Given the description of an element on the screen output the (x, y) to click on. 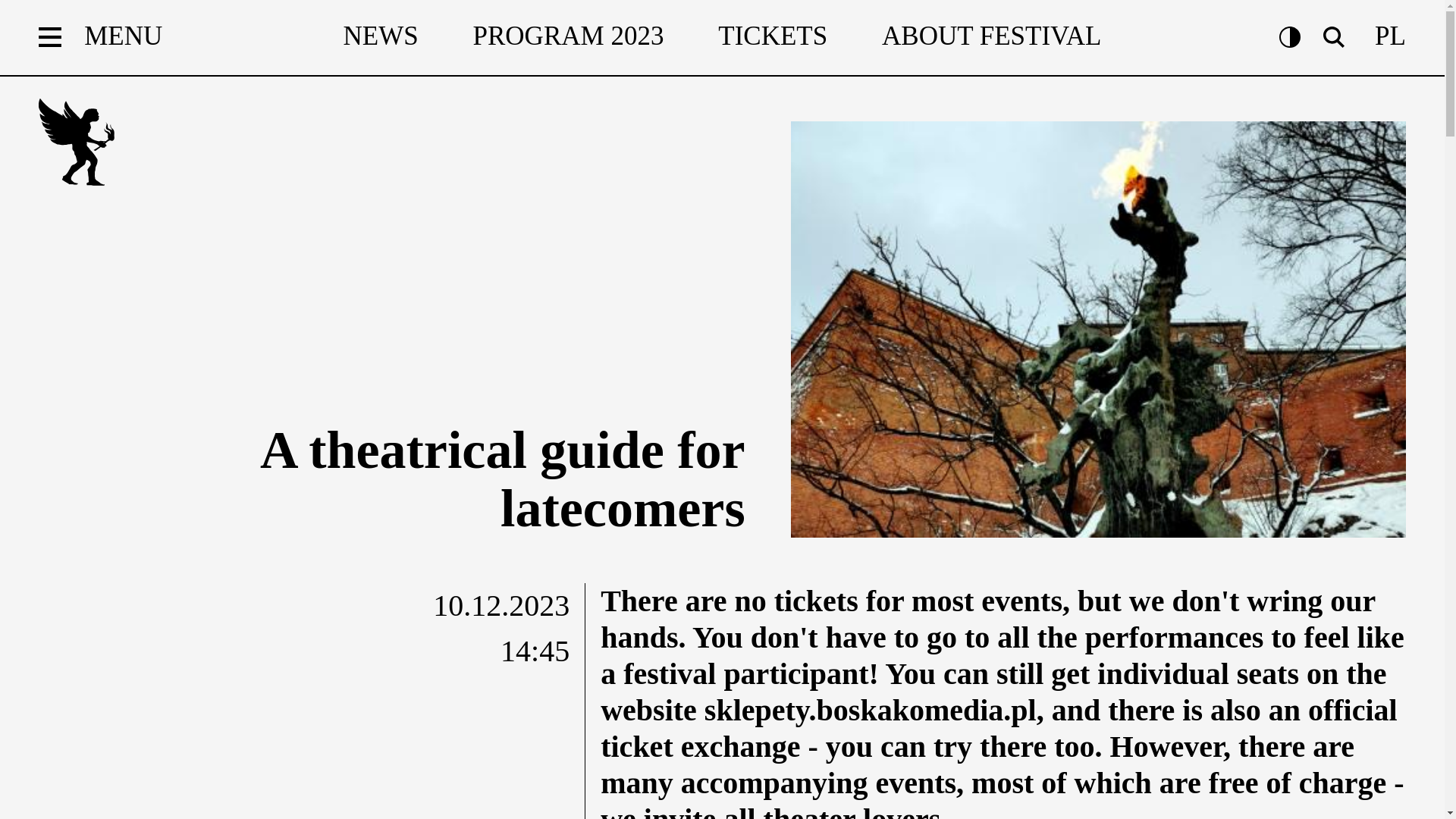
TICKETS (772, 36)
PROGRAM 2023 (568, 36)
NEWS (379, 36)
ABOUT FESTIVAL (991, 36)
PL (1390, 36)
